Given the description of an element on the screen output the (x, y) to click on. 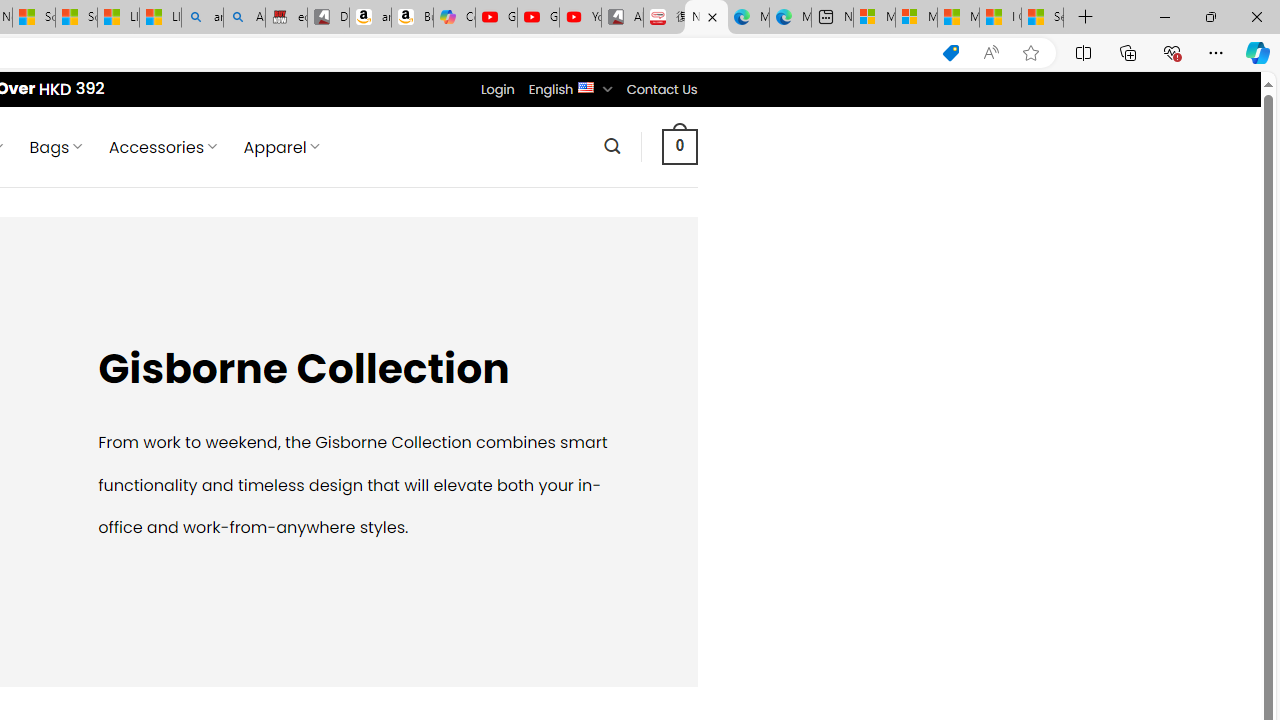
Copilot (453, 17)
